Given the description of an element on the screen output the (x, y) to click on. 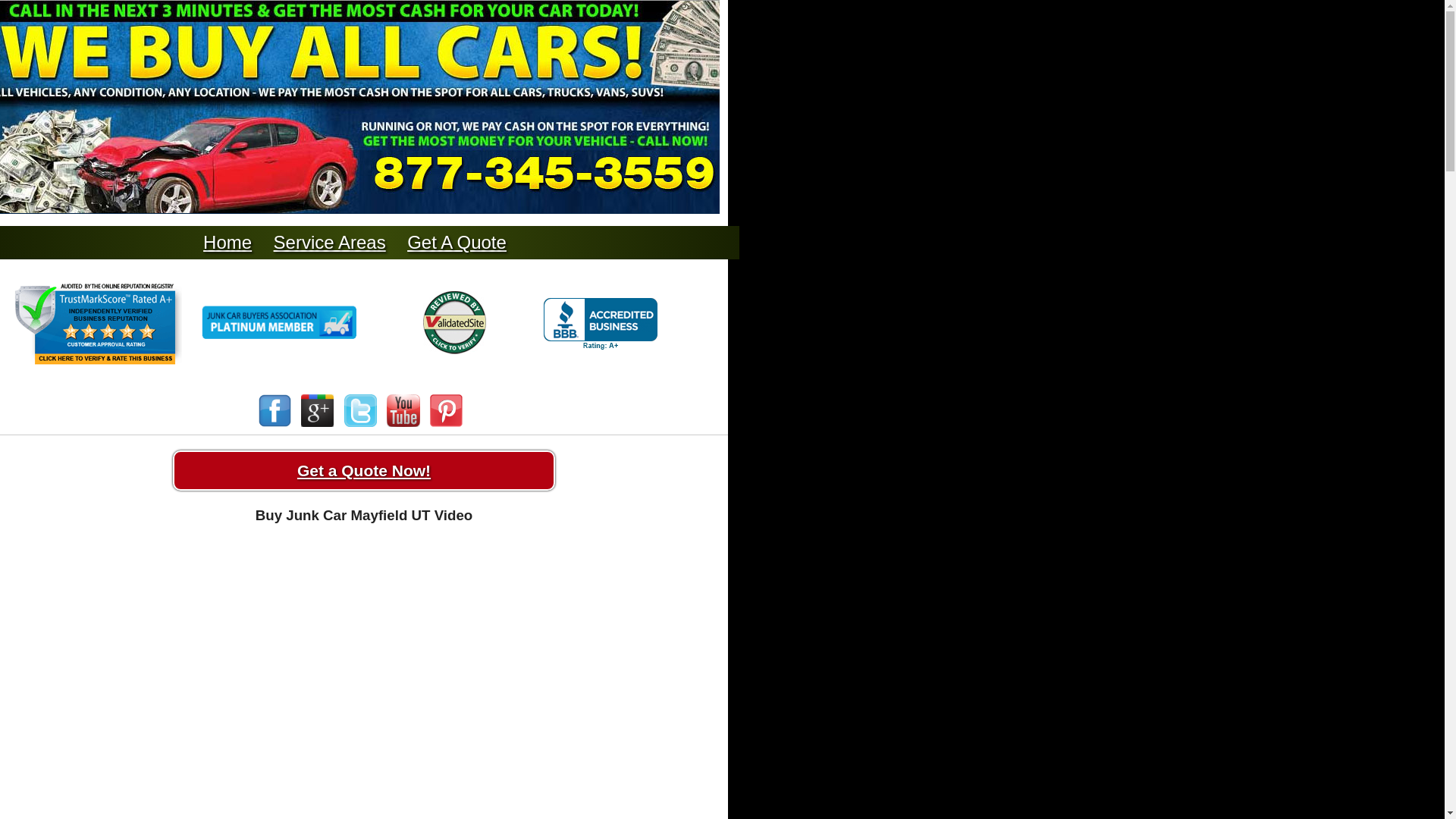
Kelly Car Buyer, Auto Dealers  Used Cars, Frankfort, IL (600, 324)
Service Areas (329, 241)
Get a Quote Now! (363, 470)
Home (227, 241)
Get A Quote (456, 241)
